Given the description of an element on the screen output the (x, y) to click on. 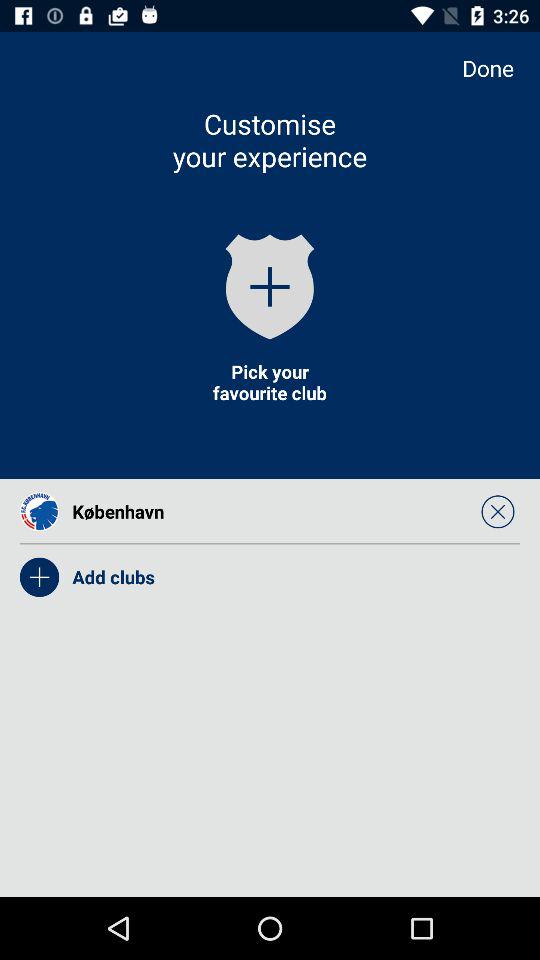
select the done at the top right corner (497, 68)
